Given the description of an element on the screen output the (x, y) to click on. 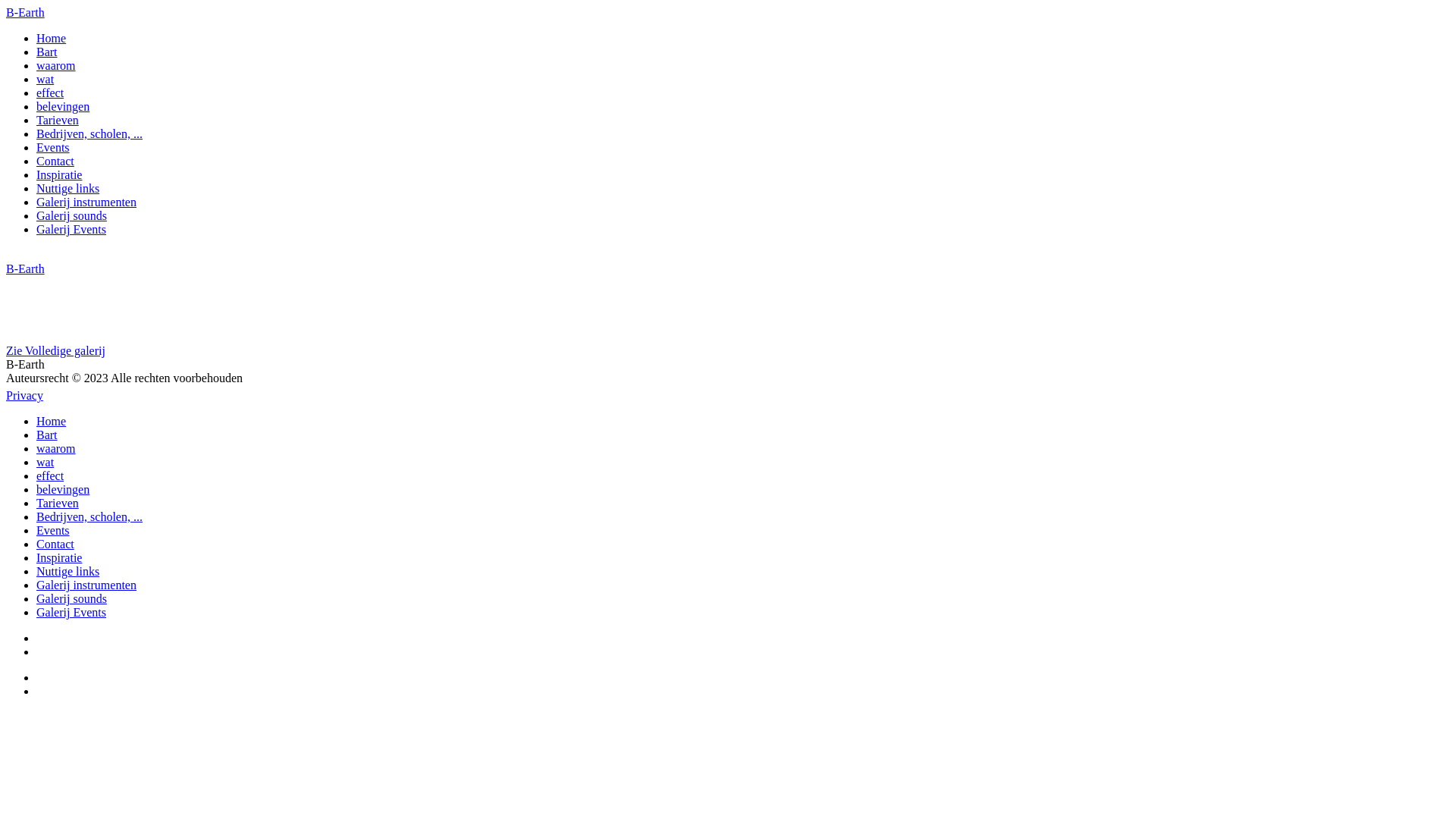
Zie Volledige galerij Element type: text (55, 350)
  Element type: text (37, 637)
effect Element type: text (49, 475)
Galerij instrumenten Element type: text (86, 201)
B-Earth Element type: text (25, 268)
  Element type: text (37, 677)
Galerij Events Element type: text (71, 228)
belevingen Element type: text (62, 106)
Tarieven Element type: text (57, 119)
  Element type: text (37, 690)
wat Element type: text (44, 78)
Inspiratie Element type: text (58, 174)
Bart Element type: text (46, 434)
Inspiratie Element type: text (58, 557)
Contact Element type: text (55, 160)
waarom Element type: text (55, 65)
effect Element type: text (49, 92)
Bedrijven, scholen, ... Element type: text (89, 133)
Galerij sounds Element type: text (71, 215)
Nuttige links Element type: text (67, 188)
  Element type: text (37, 651)
Contact Element type: text (55, 543)
Bedrijven, scholen, ... Element type: text (89, 516)
Nuttige links Element type: text (67, 570)
Bart Element type: text (46, 51)
Galerij instrumenten Element type: text (86, 584)
B-Earth Element type: text (25, 12)
  Element type: text (7, 254)
Tarieven Element type: text (57, 502)
Home Element type: text (50, 37)
Galerij Events Element type: text (71, 611)
Privacy Element type: text (24, 395)
wat Element type: text (44, 461)
Events Element type: text (52, 530)
Events Element type: text (52, 147)
Home Element type: text (50, 420)
Galerij sounds Element type: text (71, 598)
belevingen Element type: text (62, 489)
waarom Element type: text (55, 448)
